Given the description of an element on the screen output the (x, y) to click on. 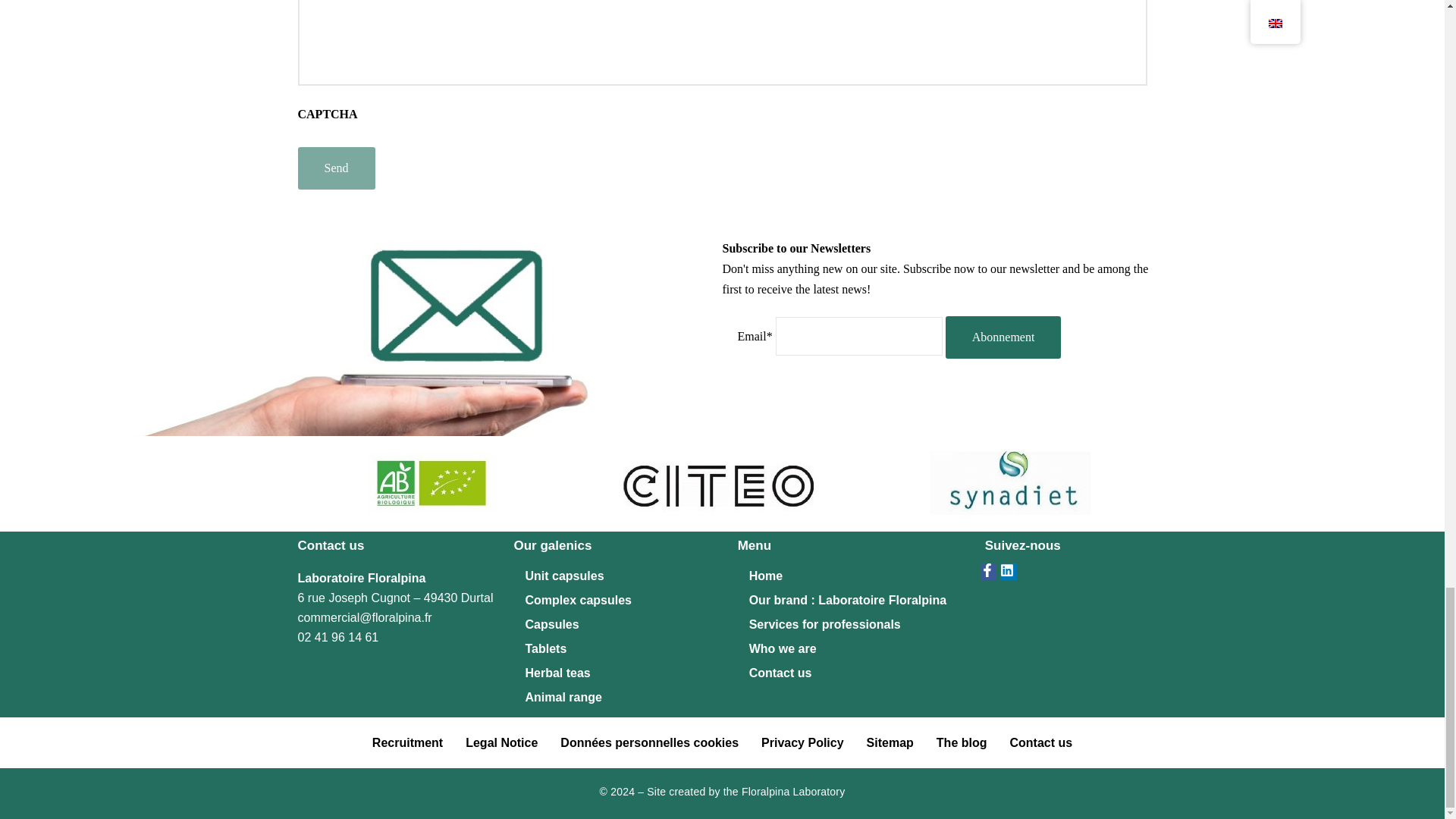
Services for professionals (853, 624)
Animal range (617, 697)
Abonnement (1002, 337)
Capsules (617, 624)
Complex capsules (617, 600)
Home (853, 576)
Tablets (617, 648)
Unit capsules (617, 576)
Our brand : Laboratoire Floralpina (853, 600)
Send (335, 168)
